Given the description of an element on the screen output the (x, y) to click on. 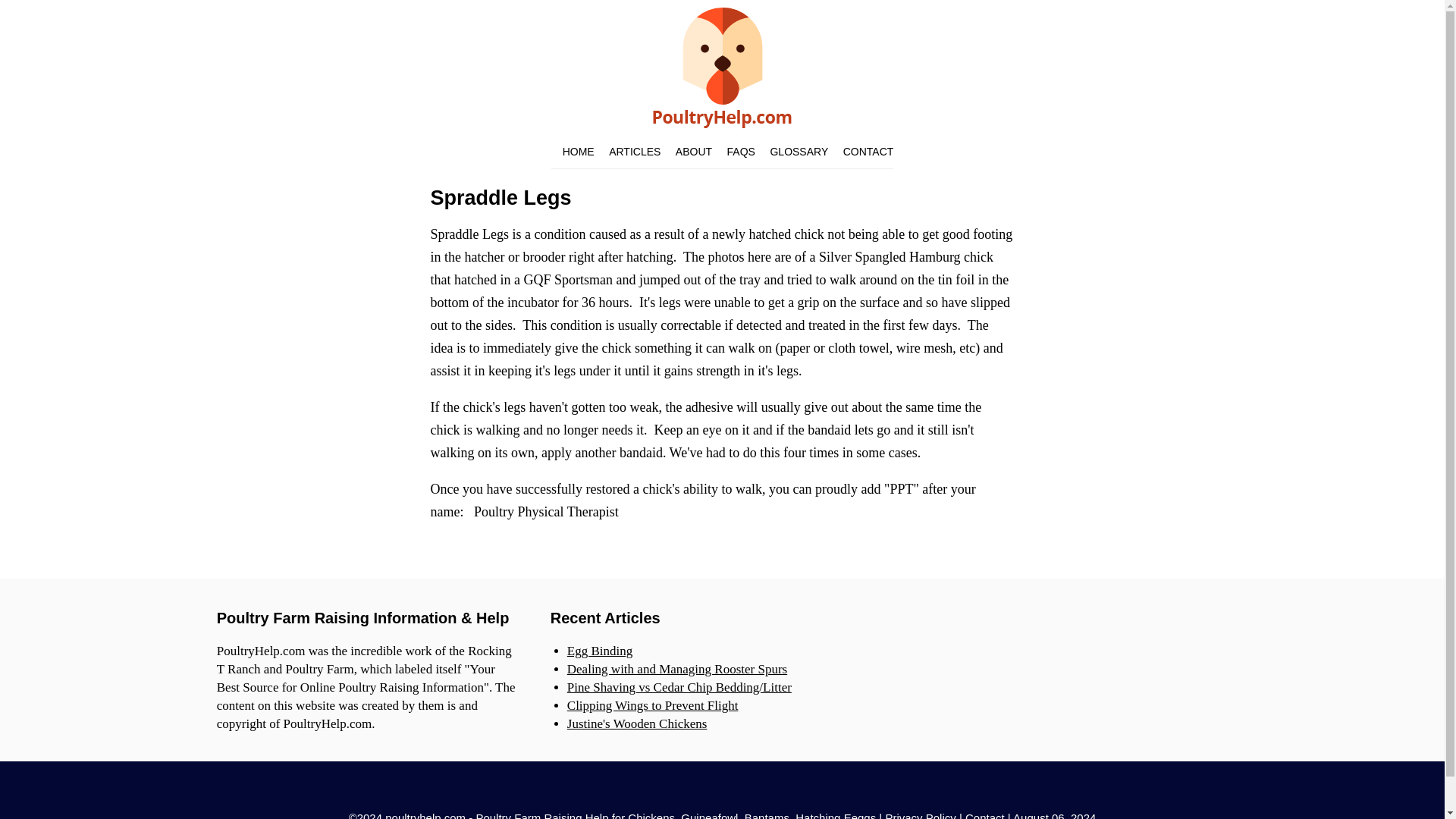
HOME (578, 151)
Egg Binding (599, 650)
ARTICLES (634, 151)
Contact (984, 815)
Justine's Wooden Chickens (637, 723)
Clipping Wings to Prevent Flight (652, 705)
GLOSSARY (799, 151)
ABOUT (693, 151)
Privacy Policy (920, 815)
CONTACT (868, 151)
Dealing with and Managing Rooster Spurs (677, 668)
